Given the description of an element on the screen output the (x, y) to click on. 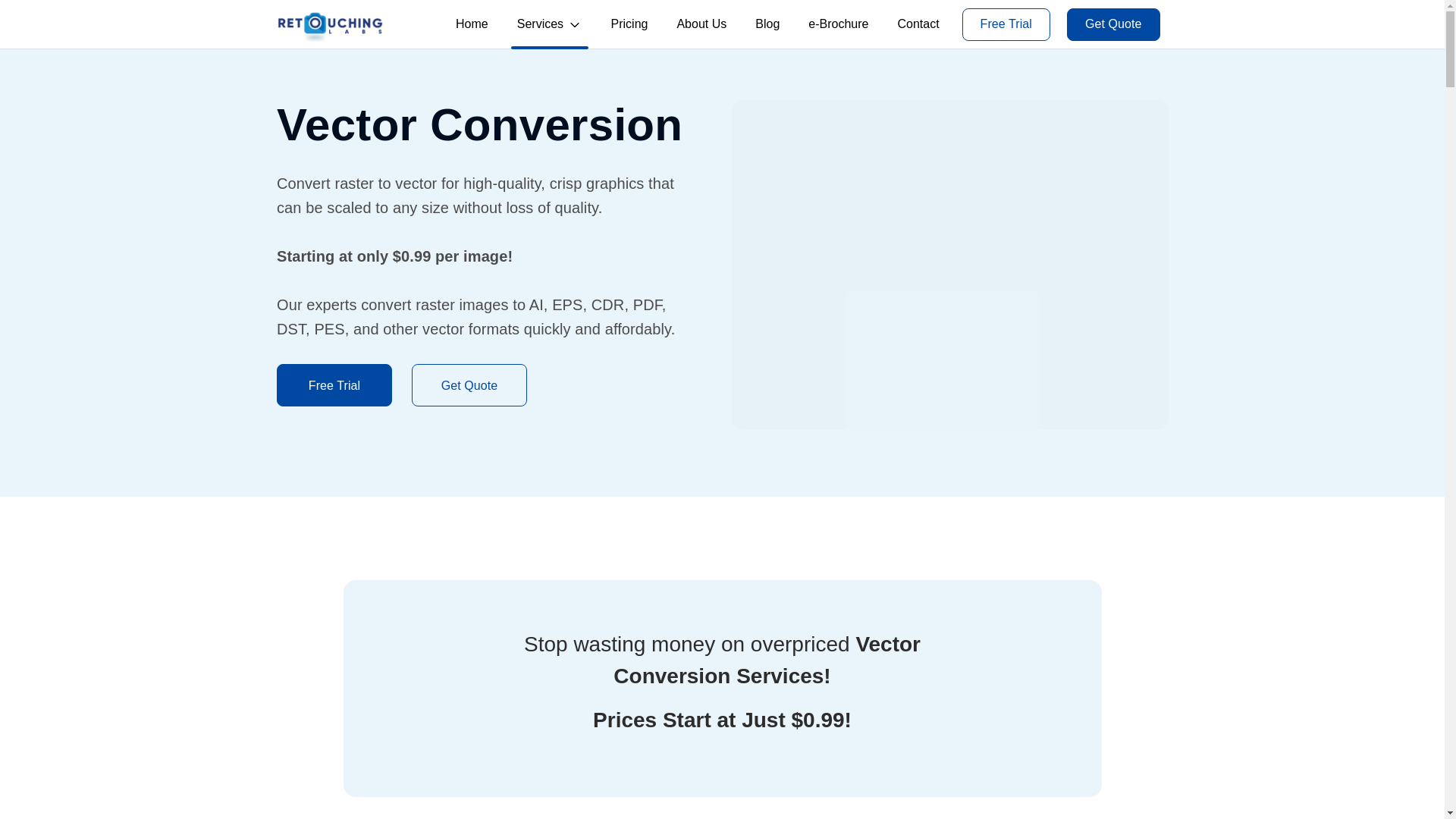
Pricing (629, 24)
About Us (700, 24)
e-Brochure (838, 24)
Get Quote (1113, 23)
Contact (917, 24)
Free Trial (1005, 23)
Get Quote (467, 426)
Home (472, 24)
Free Trial (333, 426)
Services (549, 24)
